Given the description of an element on the screen output the (x, y) to click on. 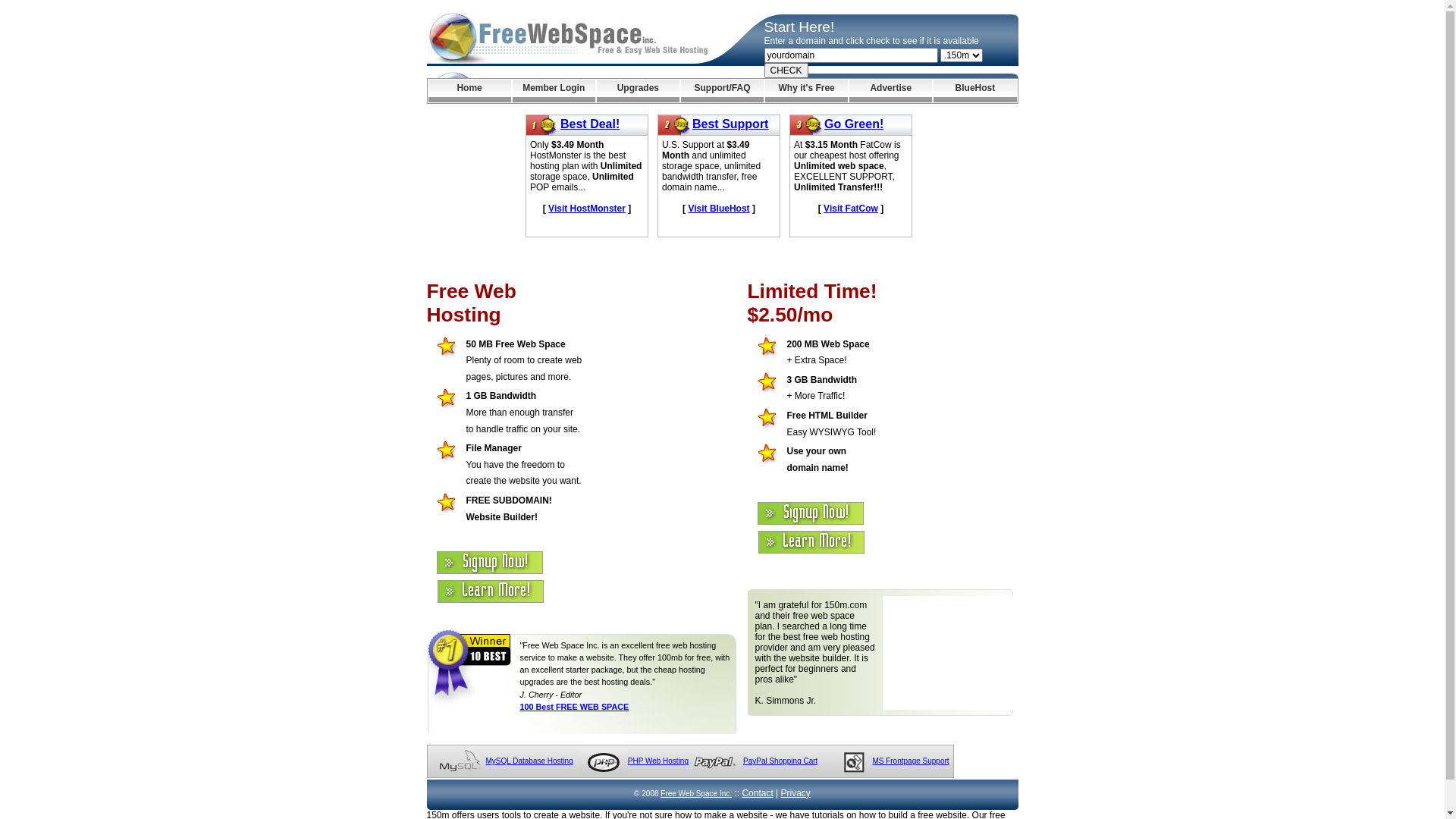
MS Frontpage Support Element type: text (910, 760)
Support/FAQ Element type: text (721, 90)
Member Login Element type: text (553, 90)
Upgrades Element type: text (637, 90)
Home Element type: text (468, 90)
MySQL Database Hosting Element type: text (528, 760)
100 Best FREE WEB SPACE Element type: text (574, 706)
PayPal Shopping Cart Element type: text (780, 760)
Why it's Free Element type: text (806, 90)
Advertise Element type: text (890, 90)
PHP Web Hosting Element type: text (657, 760)
Free Web Space Inc. Element type: text (695, 793)
Contact Element type: text (756, 792)
BlueHost Element type: text (974, 90)
Privacy Element type: text (795, 792)
CHECK Element type: text (786, 70)
